Given the description of an element on the screen output the (x, y) to click on. 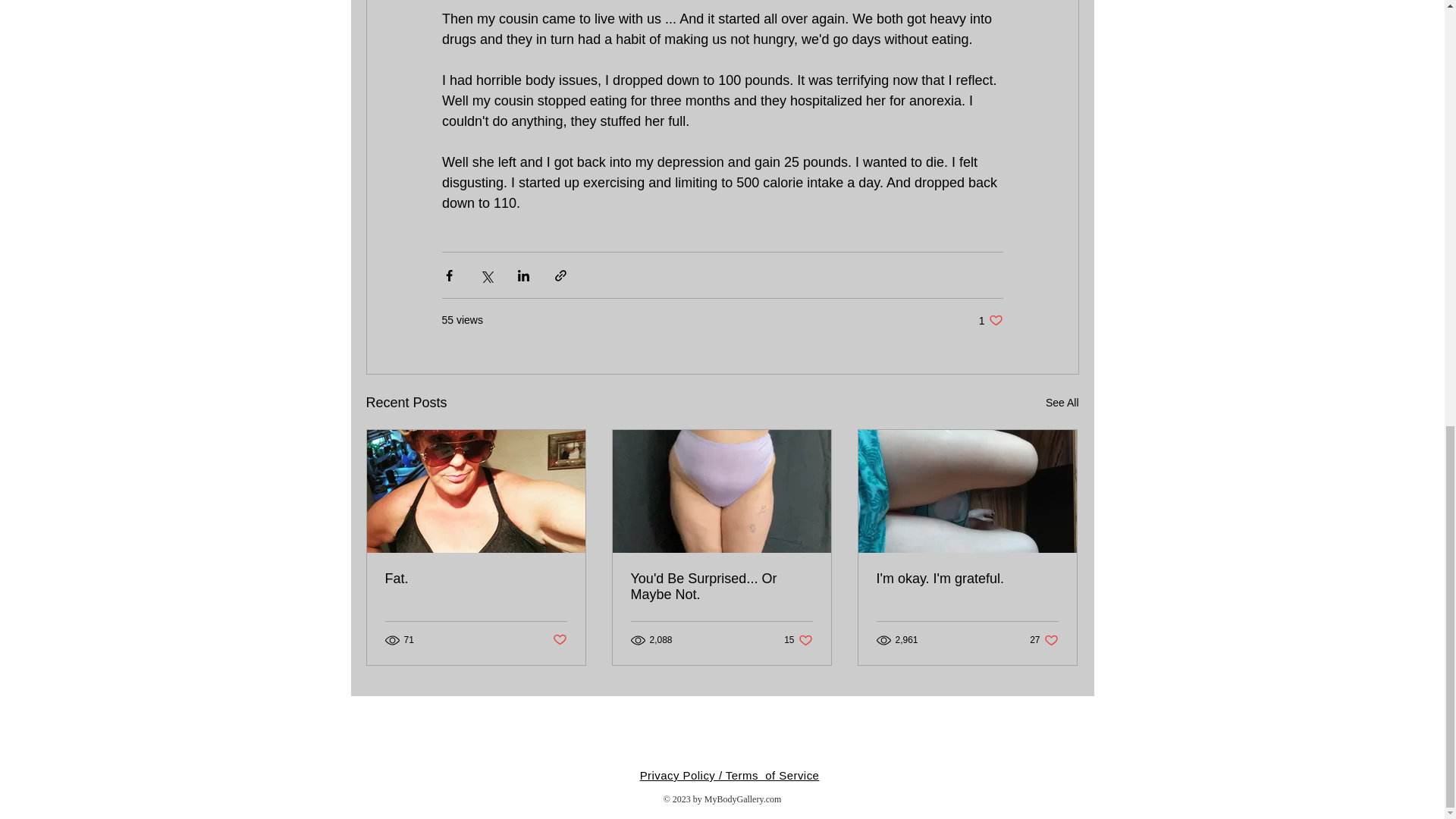
You'd Be Surprised... Or Maybe Not. (721, 586)
Fat. (476, 578)
Post not marked as liked (798, 639)
See All (558, 640)
I'm okay. I'm grateful. (1061, 403)
